Given the description of an element on the screen output the (x, y) to click on. 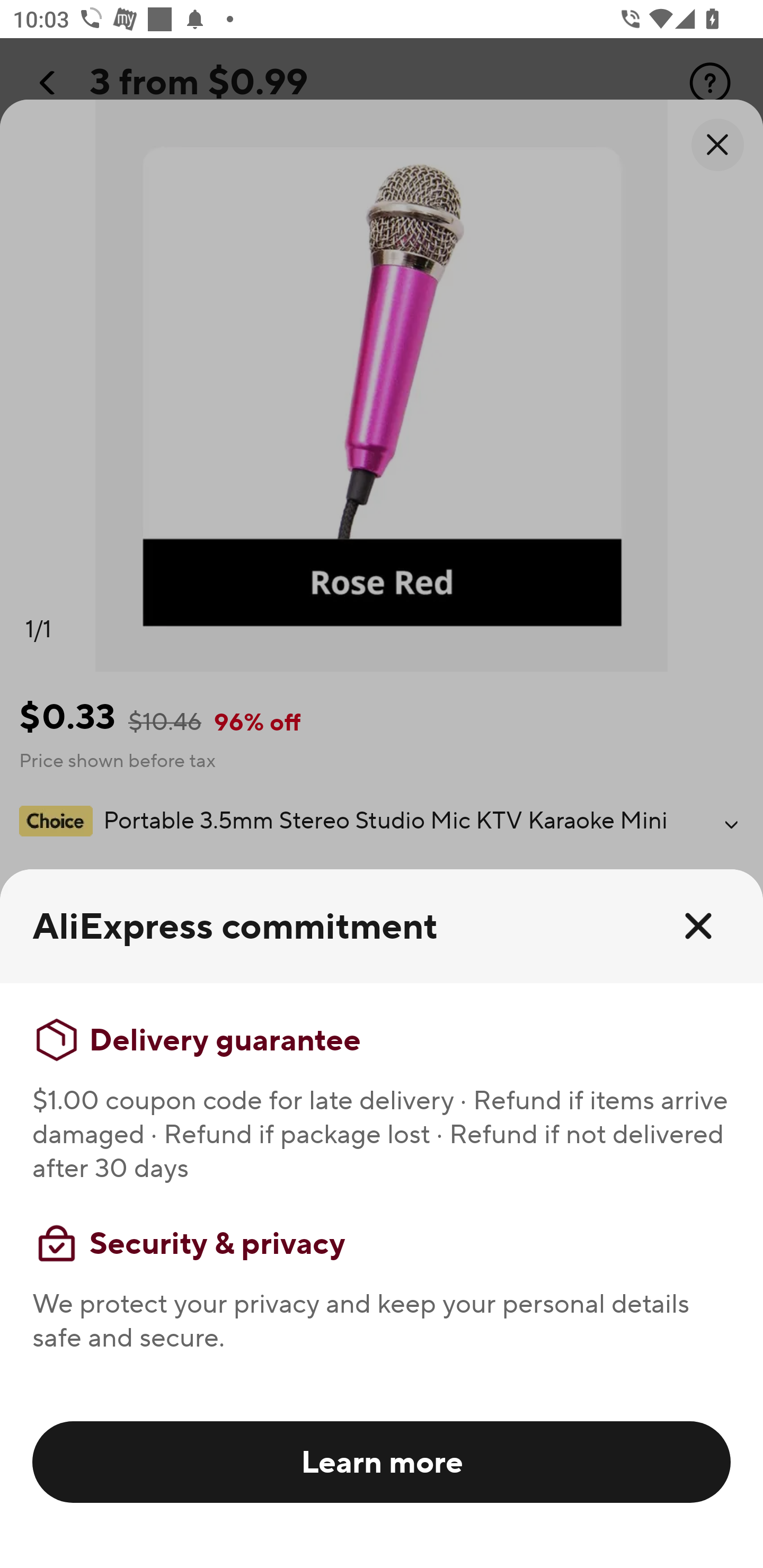
Learn more (381, 1461)
